Given the description of an element on the screen output the (x, y) to click on. 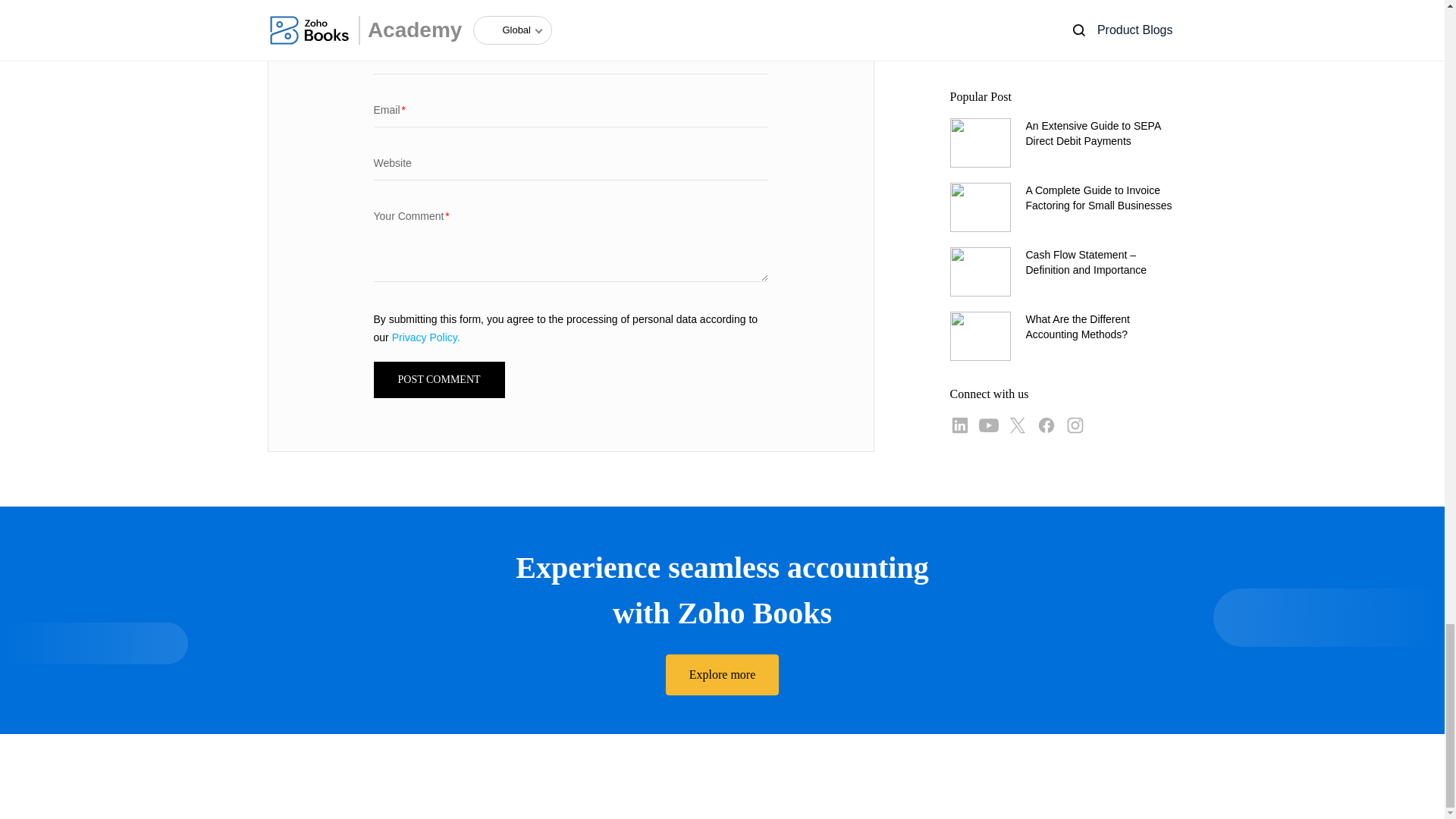
POST COMMENT (437, 379)
POST COMMENT (437, 379)
Explore more (721, 674)
Privacy Policy. (425, 337)
